Given the description of an element on the screen output the (x, y) to click on. 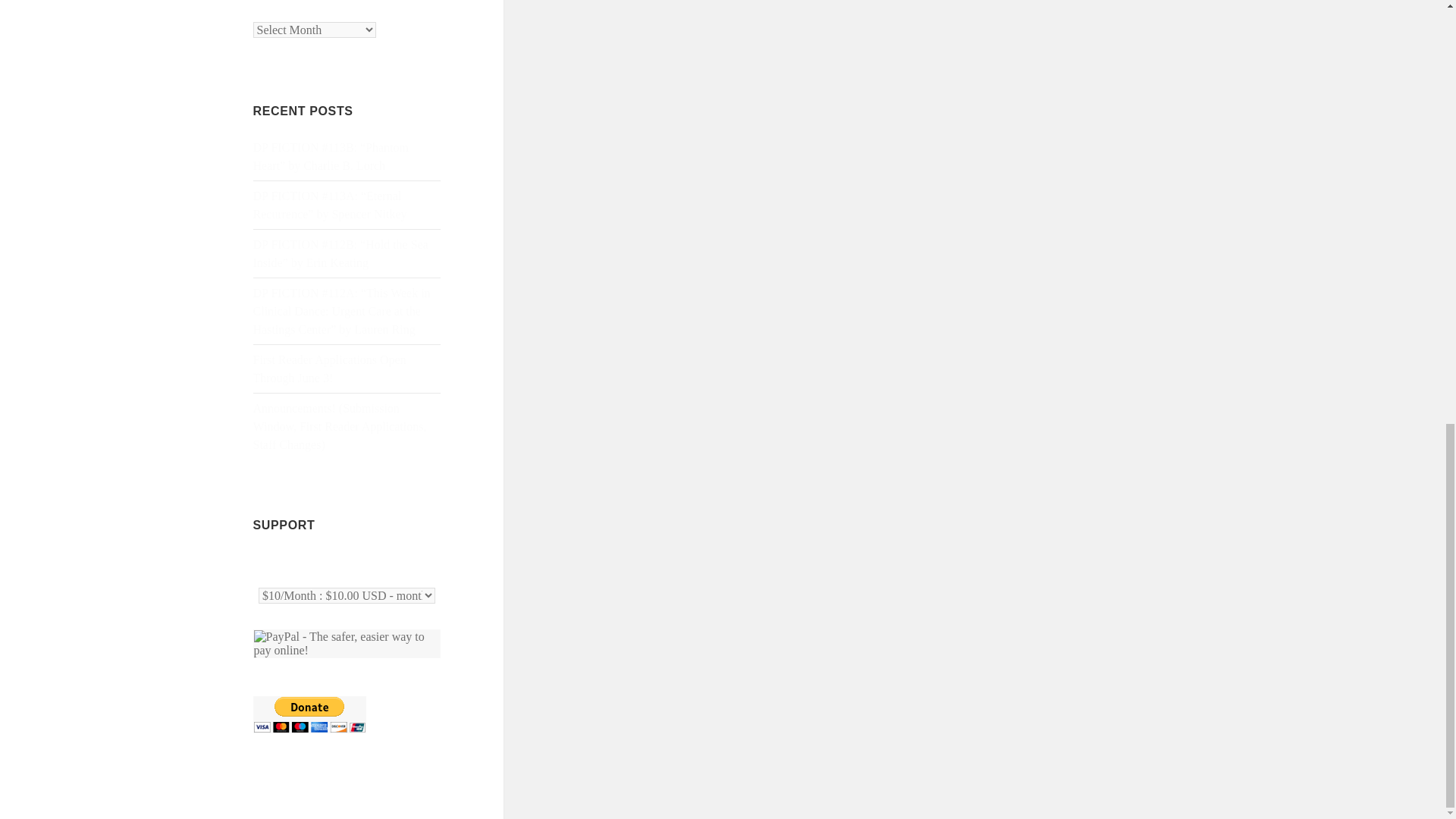
First Reader Applications Open Through June 3! (329, 368)
